Given the description of an element on the screen output the (x, y) to click on. 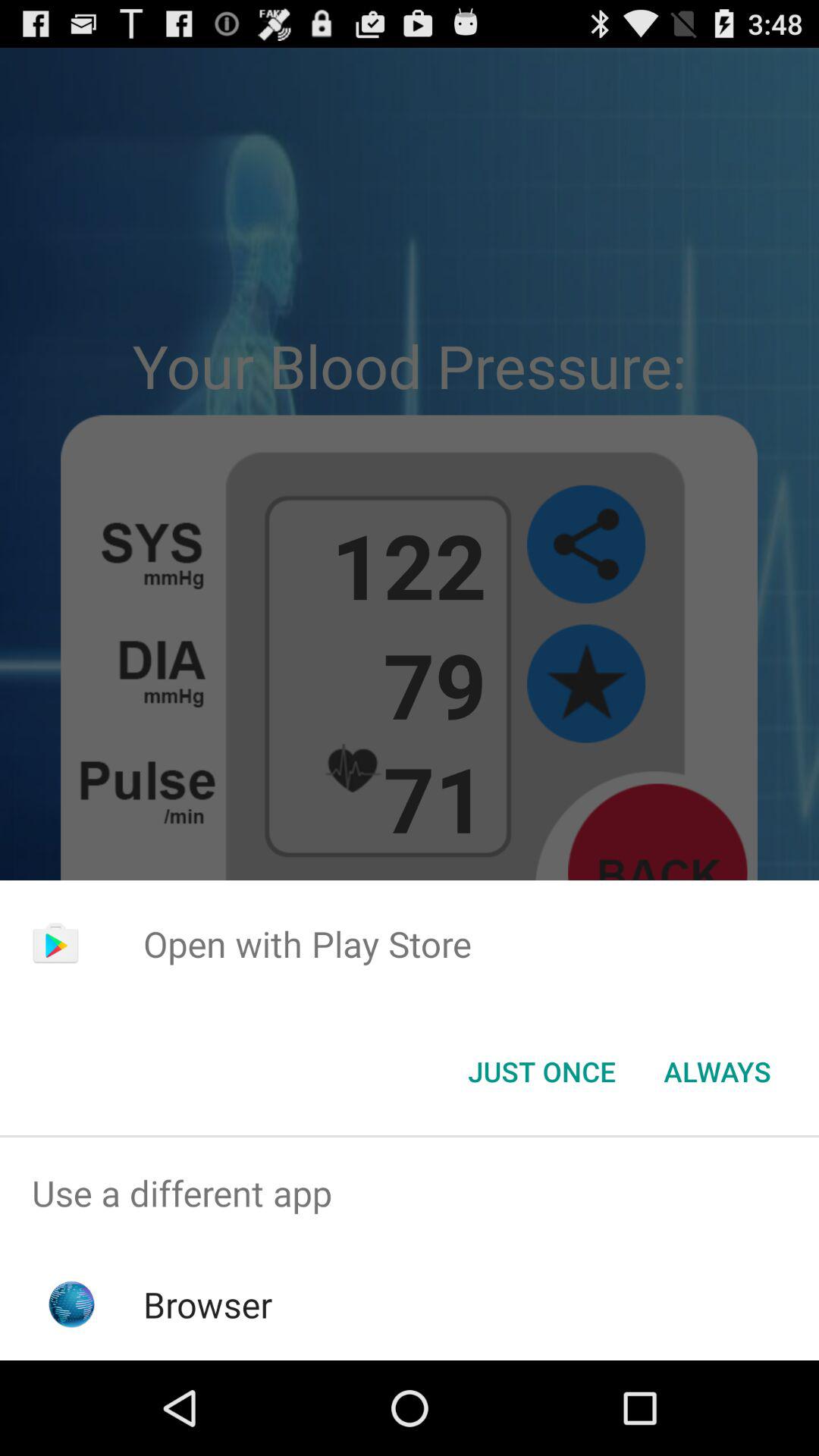
click button next to the just once (717, 1071)
